Given the description of an element on the screen output the (x, y) to click on. 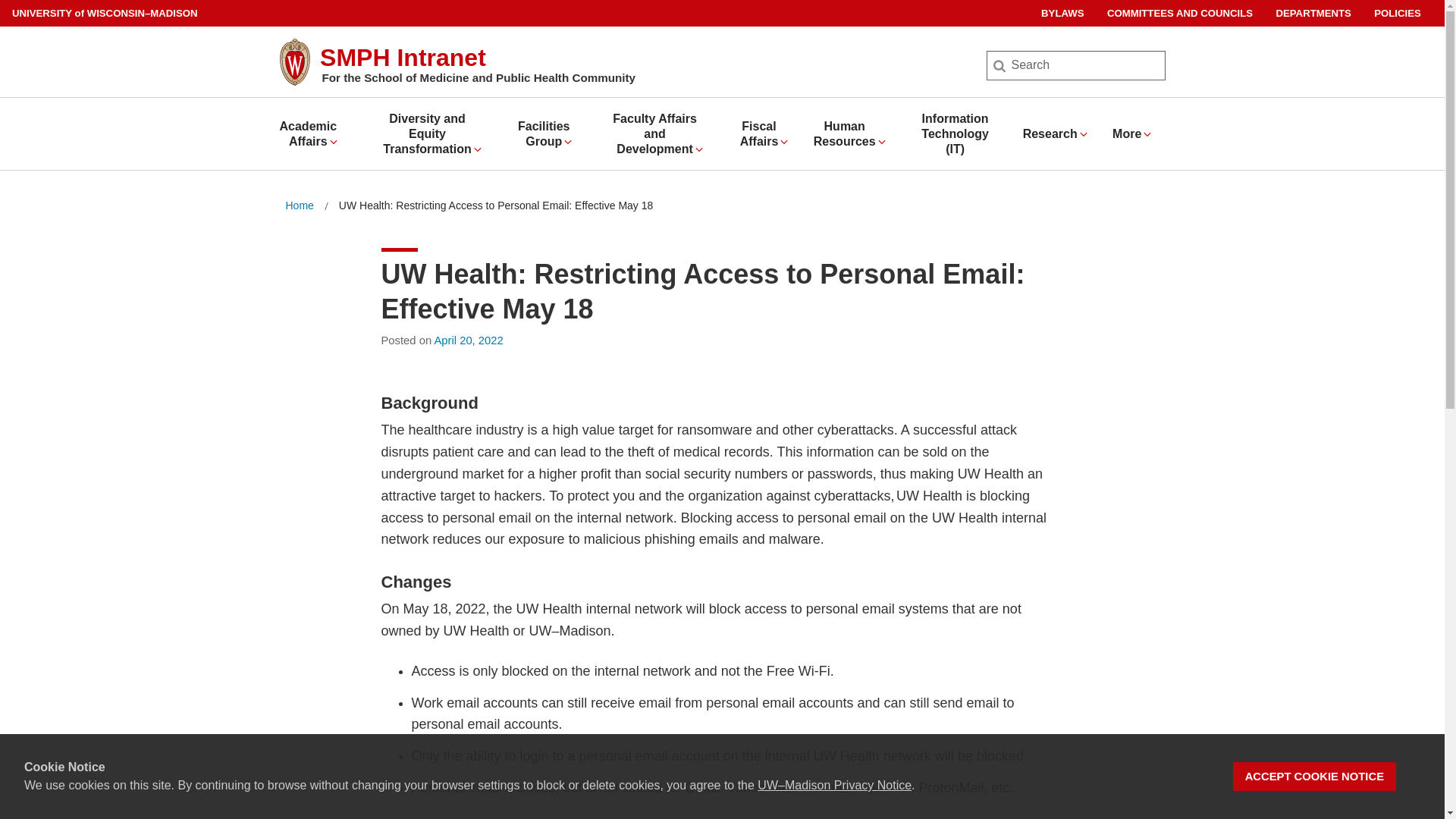
SMPH Intranet (403, 57)
ACCEPT COOKIE NOTICE (1314, 776)
Expand (567, 141)
Expand (1147, 133)
Expand (783, 141)
Expand (698, 149)
Facilities Group Expand (549, 133)
Skip to main content (3, 3)
Home (299, 205)
Expand (882, 141)
Expand (1083, 133)
Academic Affairs Expand (314, 133)
Faculty Affairs and Development Expand (660, 133)
Expand (477, 149)
